Given the description of an element on the screen output the (x, y) to click on. 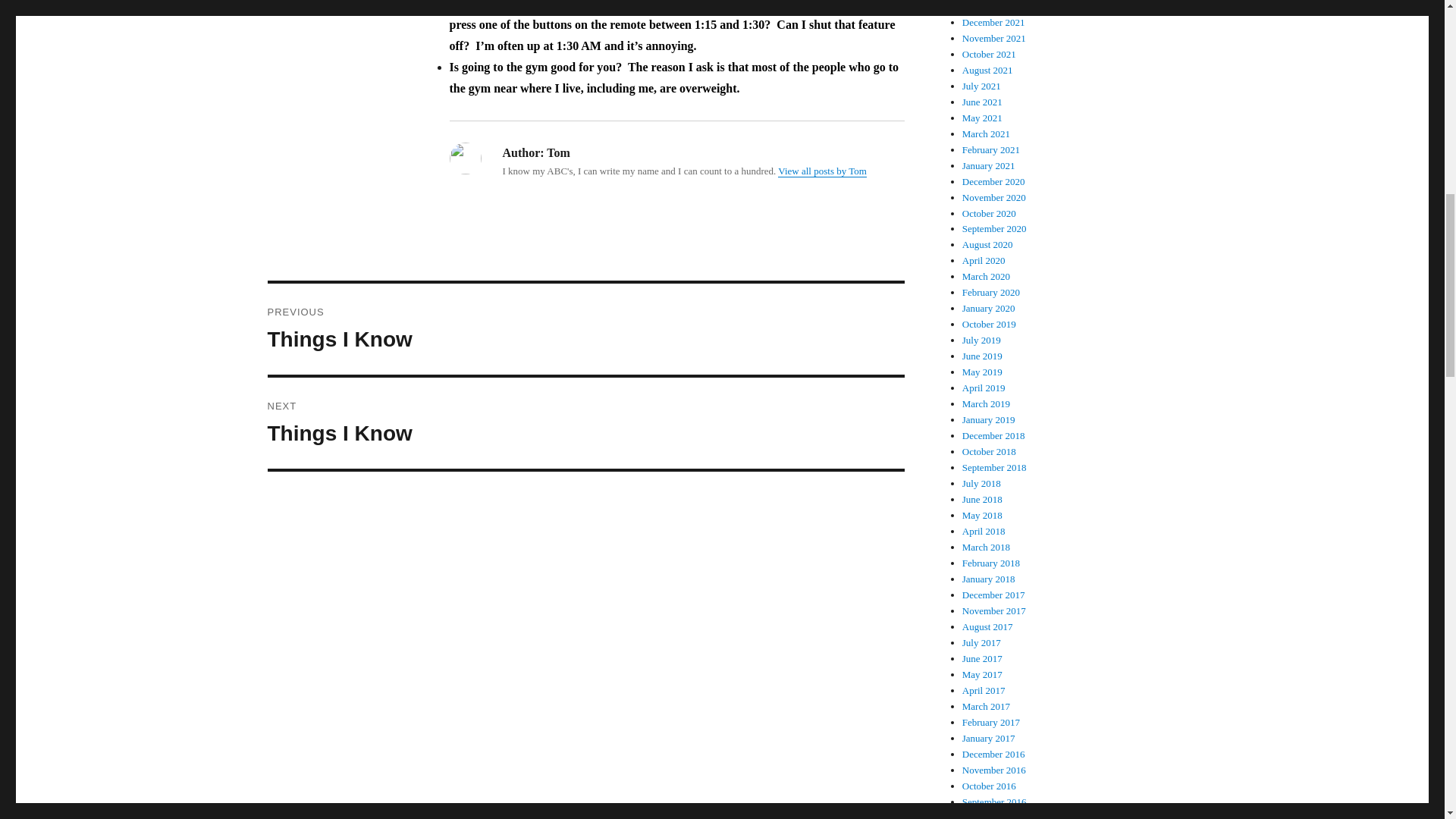
October 2020 (989, 213)
May 2021 (982, 117)
June 2021 (982, 101)
November 2020 (994, 197)
January 2021 (585, 422)
December 2021 (988, 165)
January 2022 (993, 21)
November 2021 (988, 6)
March 2021 (994, 38)
